Given the description of an element on the screen output the (x, y) to click on. 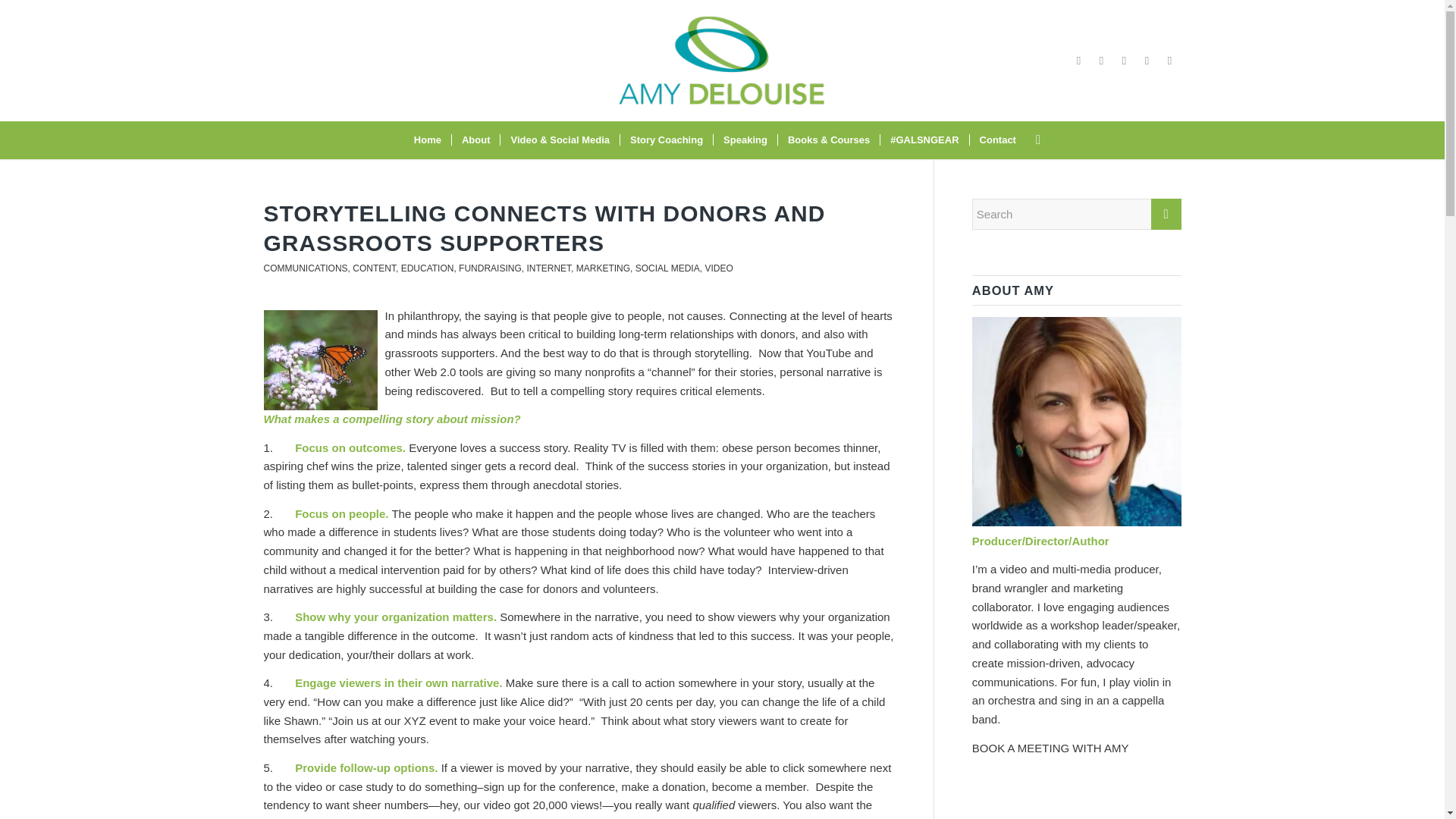
COMMUNICATIONS (305, 267)
Vimeo (1124, 60)
Facebook (1078, 60)
Home (427, 139)
LinkedIn (1169, 60)
About (475, 139)
FUNDRAISING (489, 267)
Monarch Butterfly IMGP4360  s.c (320, 359)
Instagram (1101, 60)
STORYTELLING CONNECTS WITH DONORS AND GRASSROOTS SUPPORTERS (544, 227)
VIDEO (718, 267)
SOCIAL MEDIA (667, 267)
Speaking (745, 139)
EDUCATION (427, 267)
